Given the description of an element on the screen output the (x, y) to click on. 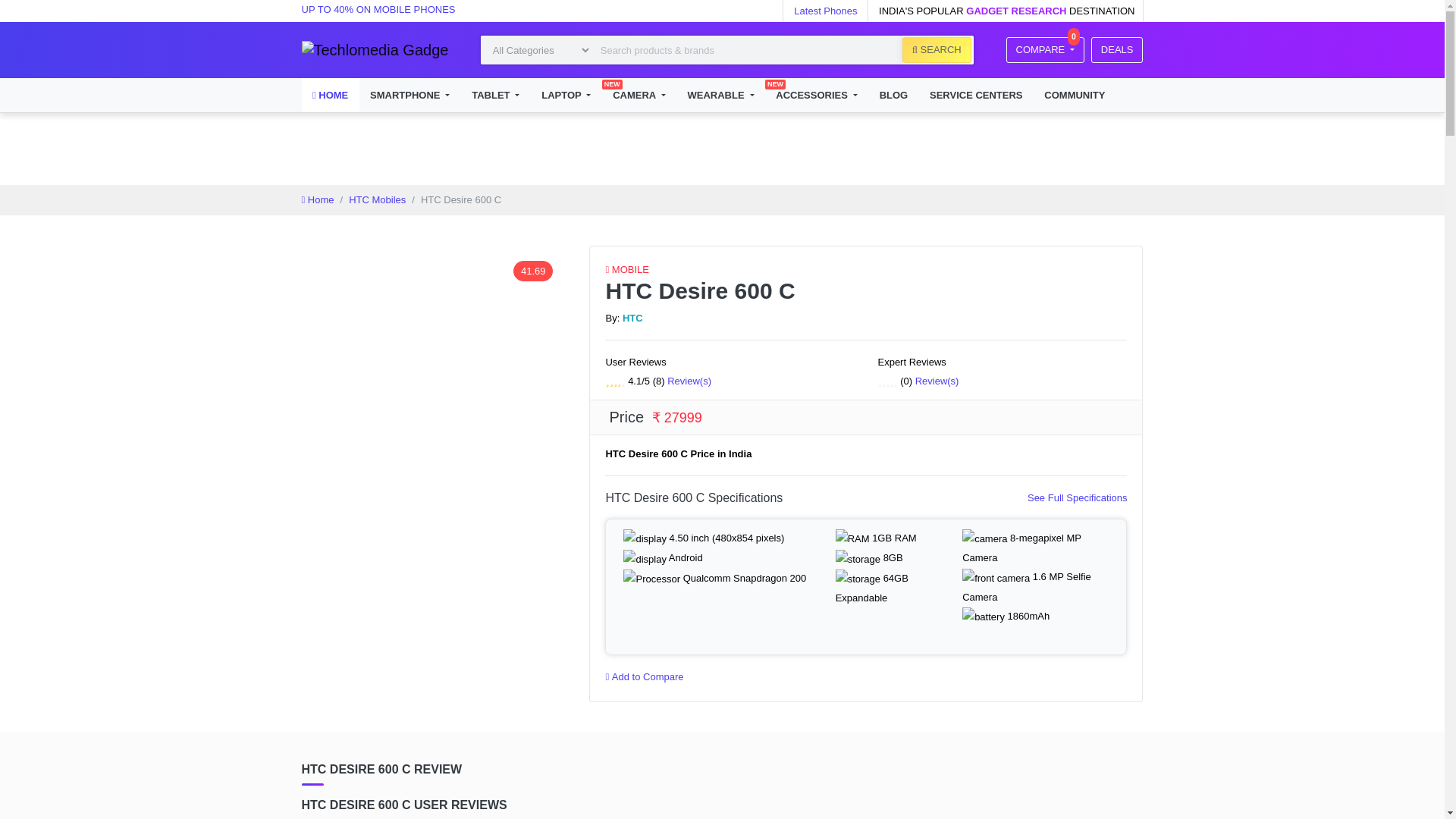
SMARTPHONE (1045, 49)
Latest Phones (410, 94)
DEALS (825, 10)
SEARCH (1116, 49)
